Given the description of an element on the screen output the (x, y) to click on. 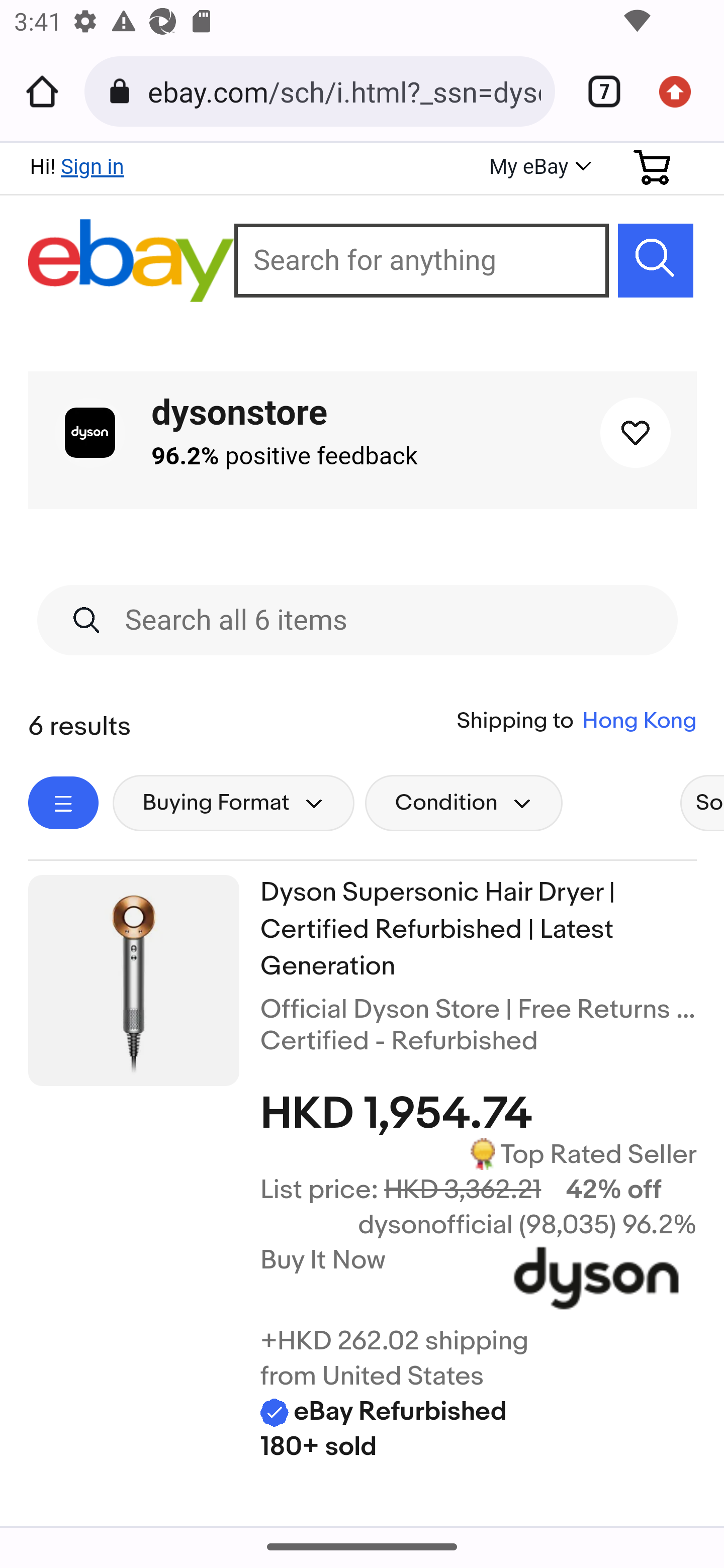
Home (42, 91)
Connection is secure (122, 91)
Switch or close tabs (597, 91)
Update available. More options (681, 91)
Your shopping cart (652, 166)
My eBay (538, 167)
Sign in (92, 166)
eBay Home (132, 260)
Search (655, 260)
dysonstore dysonstore dysonstore (239, 412)
dysonstore (89, 433)
Save this seller dysonofficial (634, 433)
96.2% positive feedback 96.2%  positive feedback (284, 455)
Shipping toHong Kong (576, 721)
Buying Format (233, 802)
Condition (463, 802)
Sort selector. Best Match selected. (701, 802)
Expand navigation on the left (63, 802)
Visit dysonofficial eBay Store! (596, 1282)
